Given the description of an element on the screen output the (x, y) to click on. 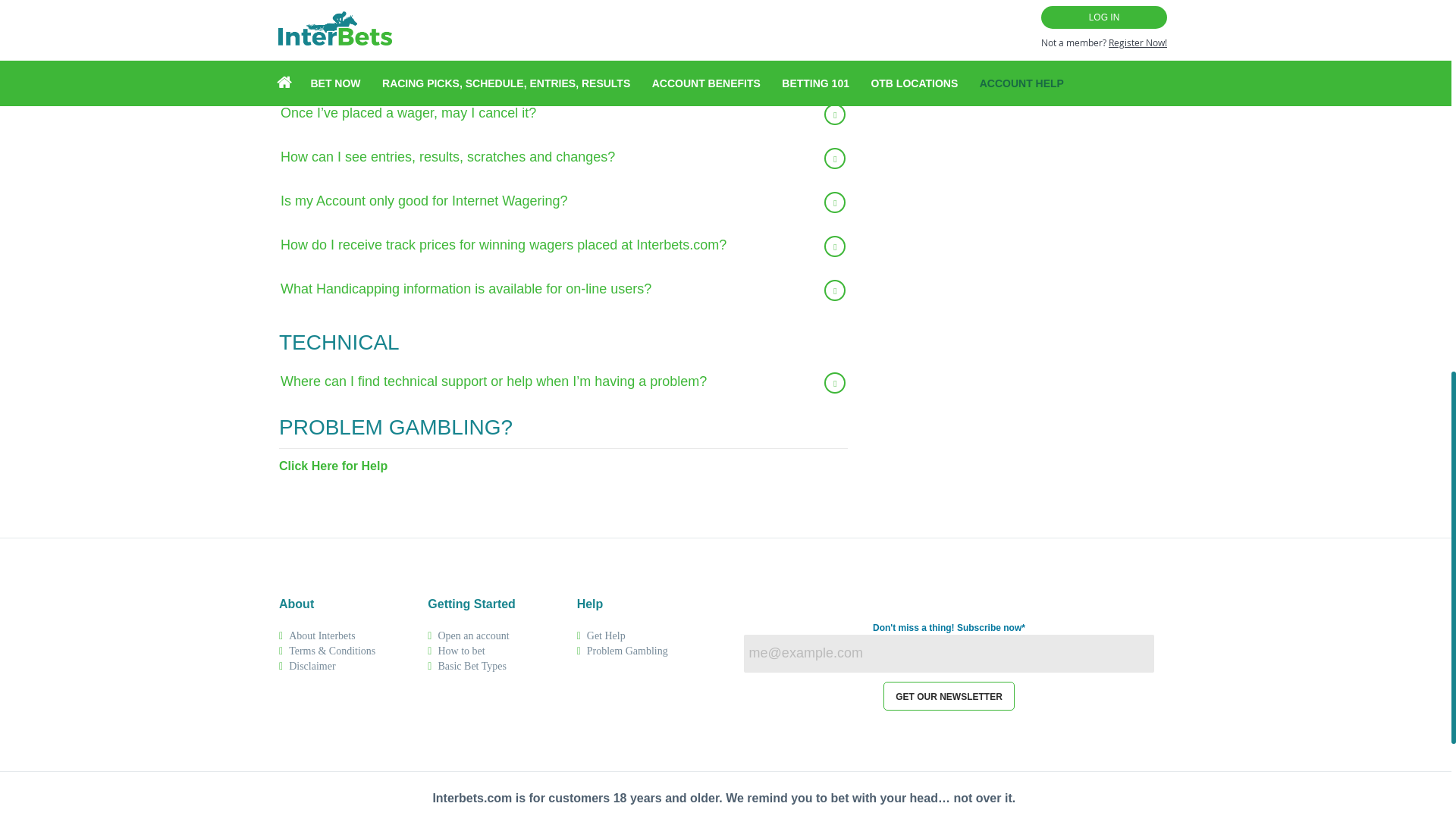
Get Our Newsletter (948, 695)
